Given the description of an element on the screen output the (x, y) to click on. 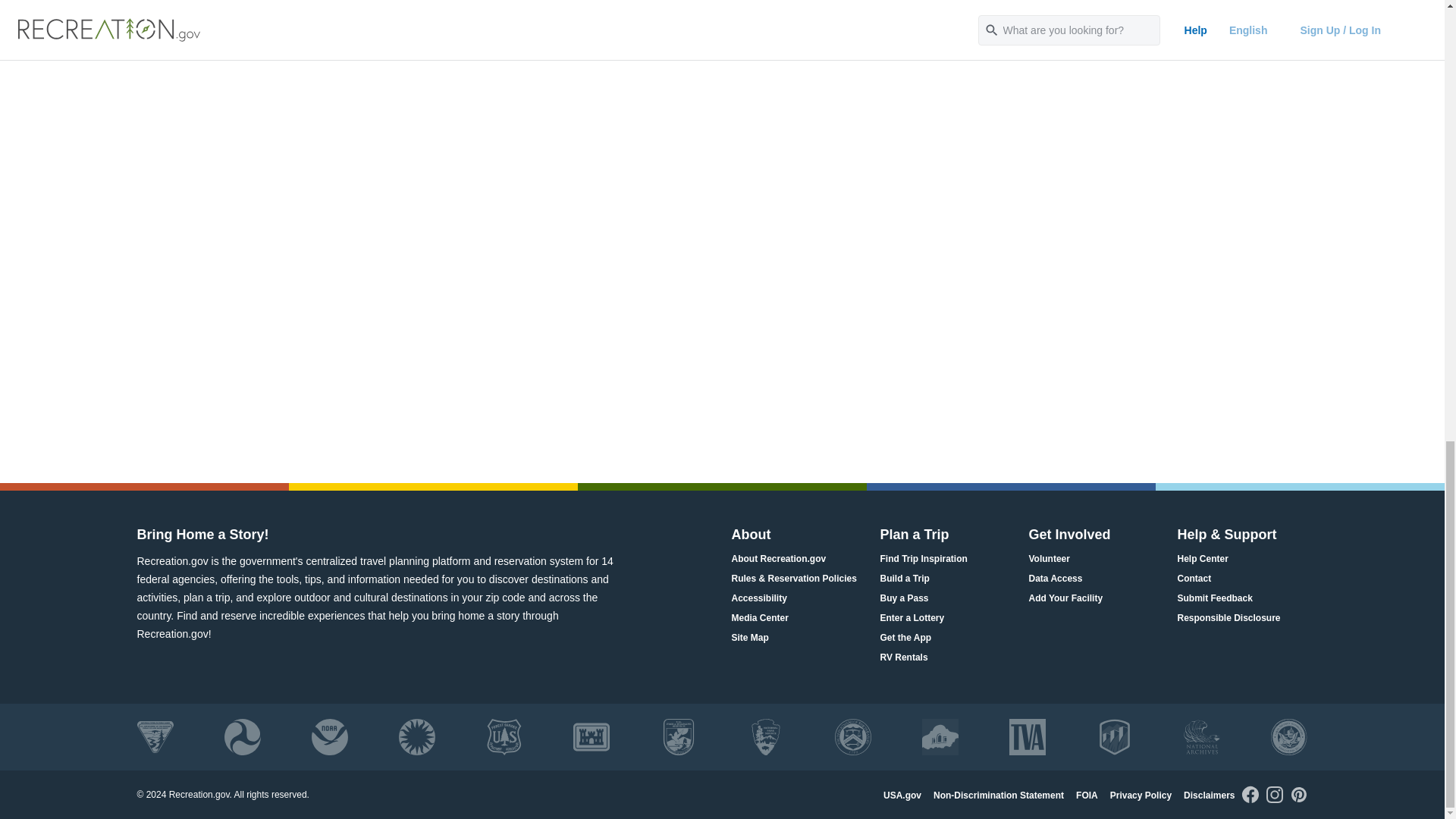
Contact (1193, 578)
Help Center (1201, 559)
Data Access (1054, 578)
Add Your Facility (1064, 598)
Accessibility (758, 598)
Media Center (758, 618)
Enter a Lottery (911, 618)
About Recreation.gov (777, 559)
Find Trip Inspiration (922, 559)
Responsible Disclosure (1227, 618)
